Given the description of an element on the screen output the (x, y) to click on. 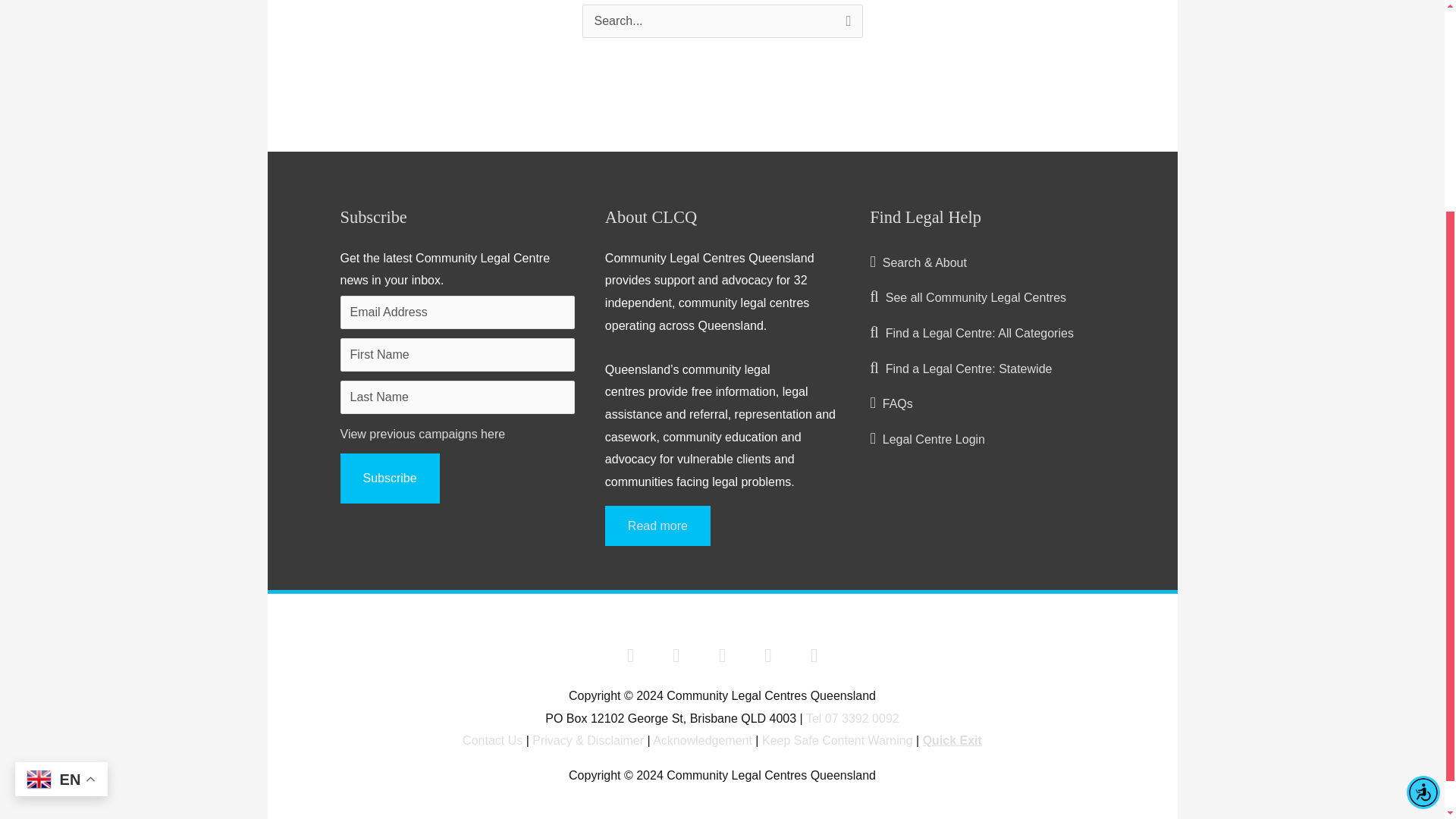
View previous campaigns (422, 433)
Find a Legal Centre: All Categories (971, 332)
See all Community Legal Centres (967, 297)
Accessibility Menu (1422, 504)
Subscribe (389, 478)
Read more (657, 526)
Subscribe (389, 478)
View previous campaigns here (422, 433)
